Given the description of an element on the screen output the (x, y) to click on. 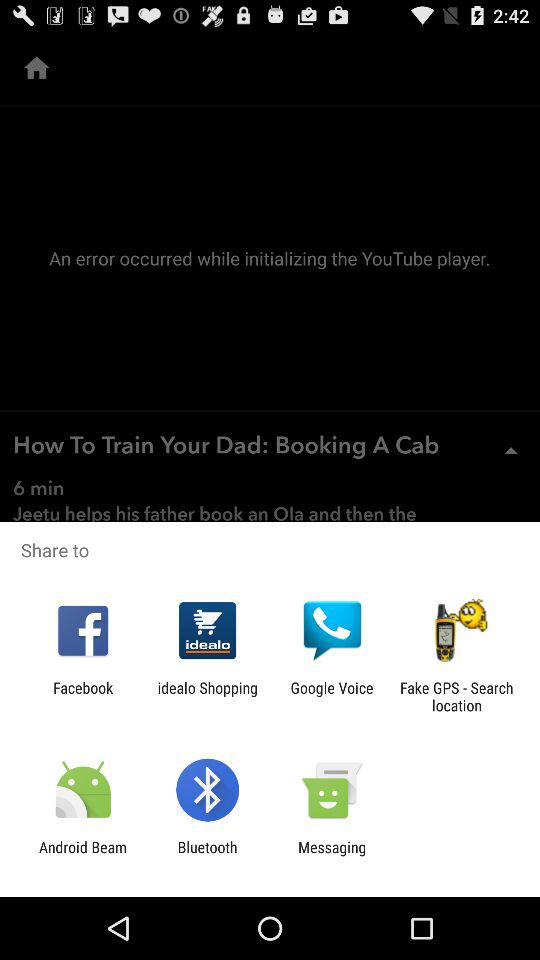
turn off the idealo shopping item (207, 696)
